Given the description of an element on the screen output the (x, y) to click on. 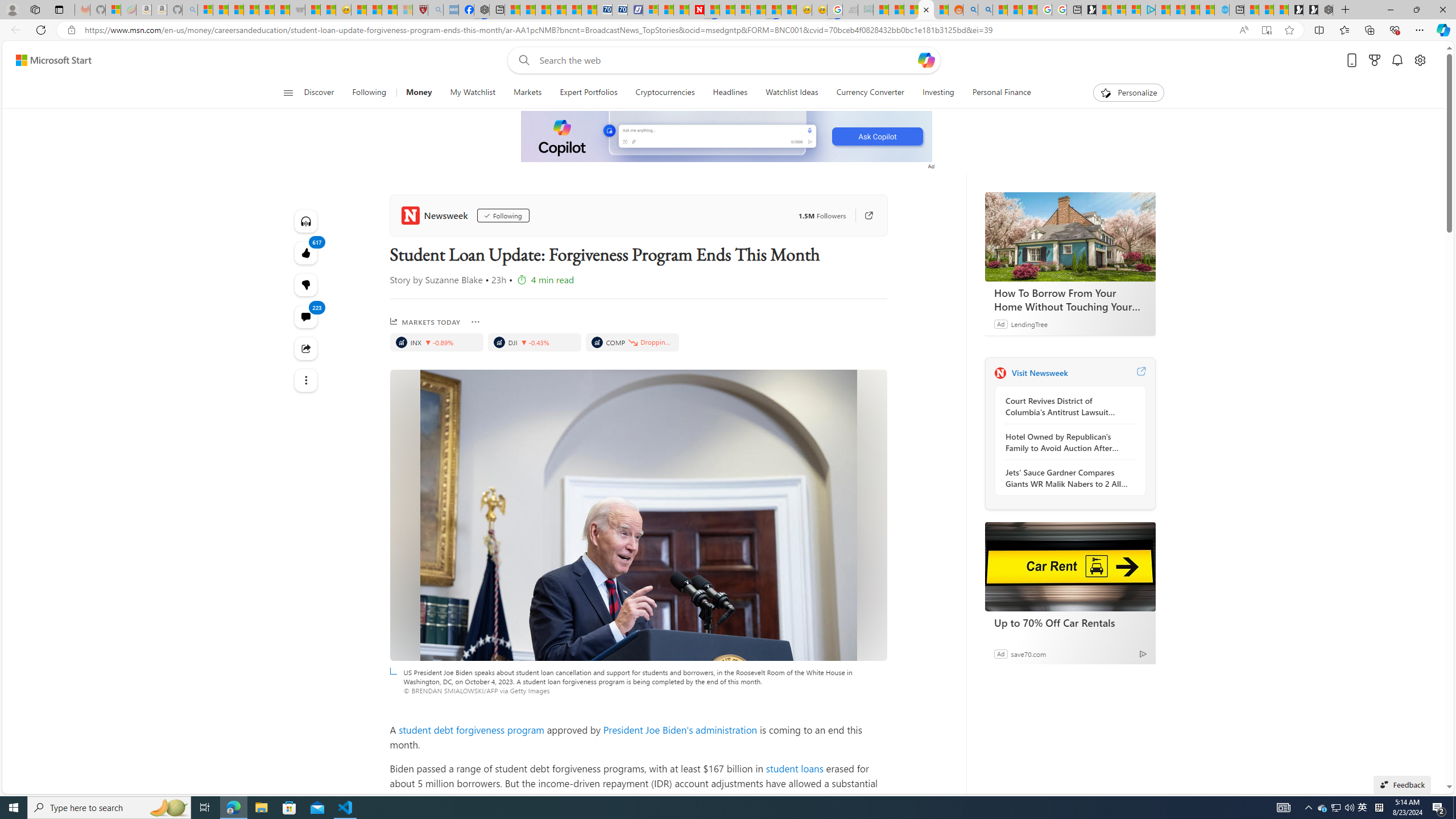
Personal Finance (1001, 92)
Cryptocurrencies (665, 92)
Markets (526, 92)
Visit Newsweek website (1140, 372)
